Given the description of an element on the screen output the (x, y) to click on. 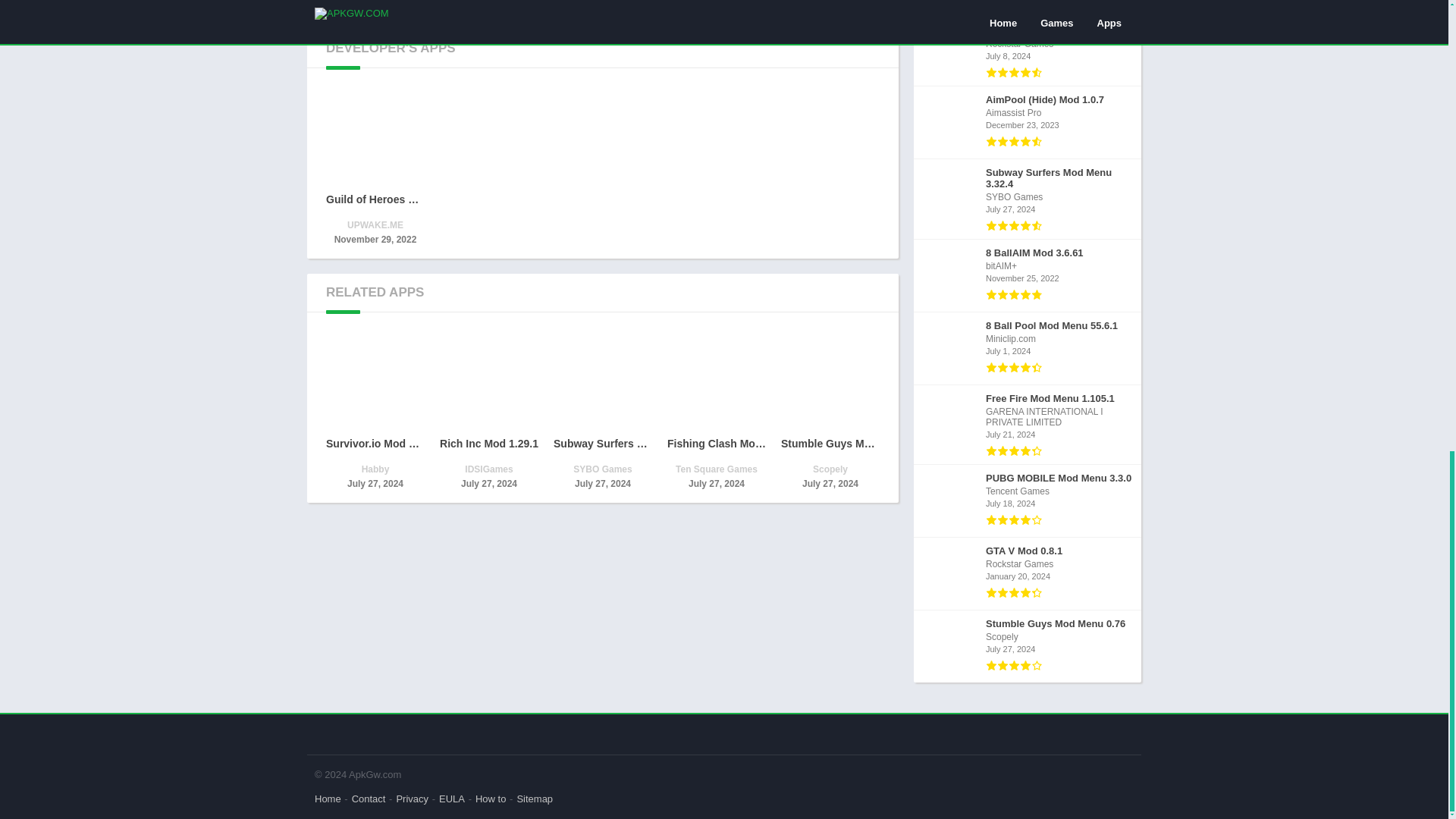
Guild of Heroes Mod 1.142.5 2 (375, 135)
Rich Inc Mod 1.29.1 4 (488, 380)
Survivor.io Mod Menu 3.0.0 3 (375, 380)
Fishing Clash Mod Menu 1.0.303 6 (715, 380)
Subway Surfers Mod Menu 3.32.4 5 (602, 380)
